Given the description of an element on the screen output the (x, y) to click on. 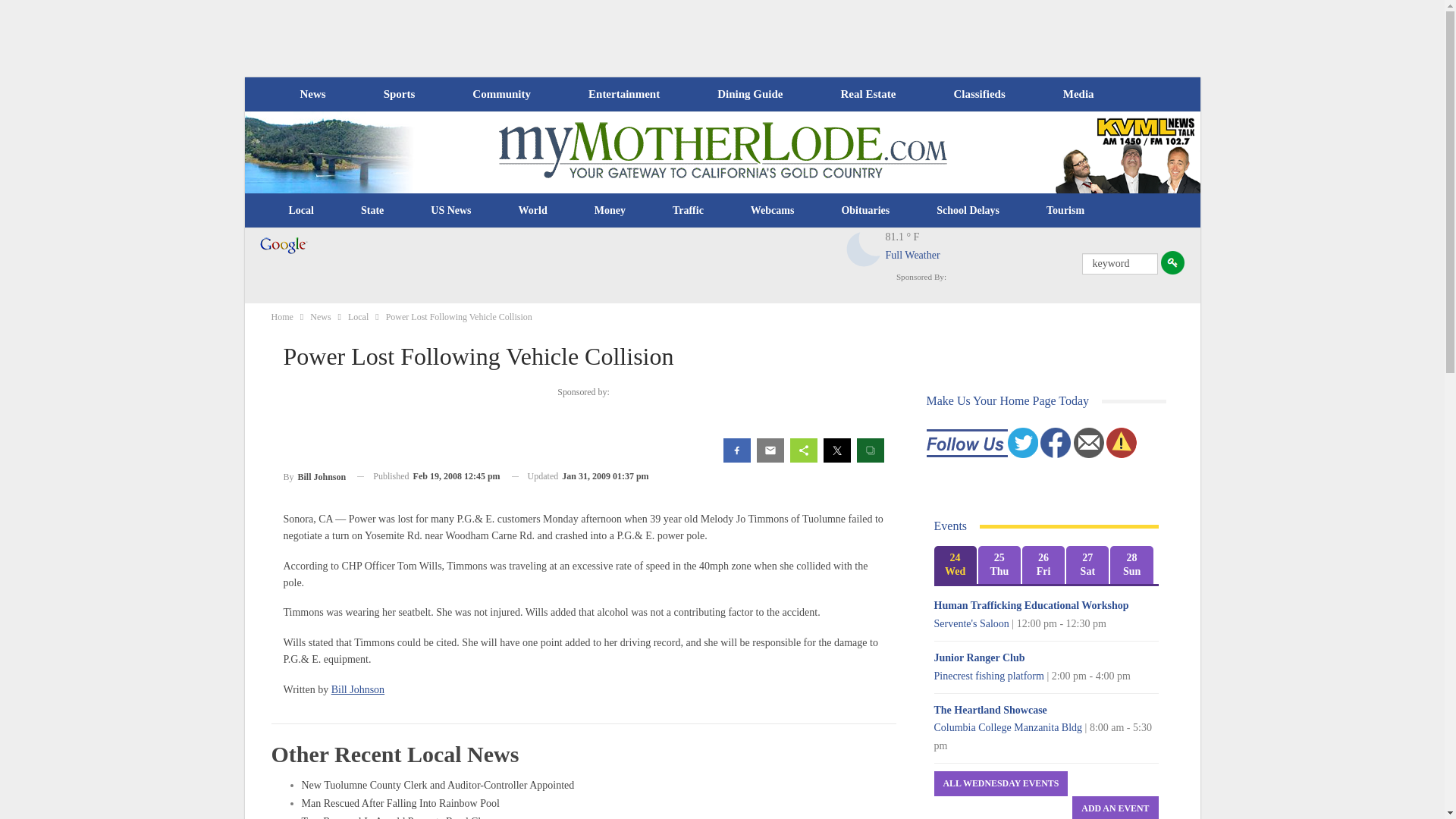
keyword (1119, 263)
Tourism (1065, 210)
Money (609, 210)
Webcams (772, 210)
Sports (399, 93)
US News (451, 210)
State (372, 210)
News (312, 93)
Community (501, 93)
Submit (1172, 262)
World (532, 210)
